Given the description of an element on the screen output the (x, y) to click on. 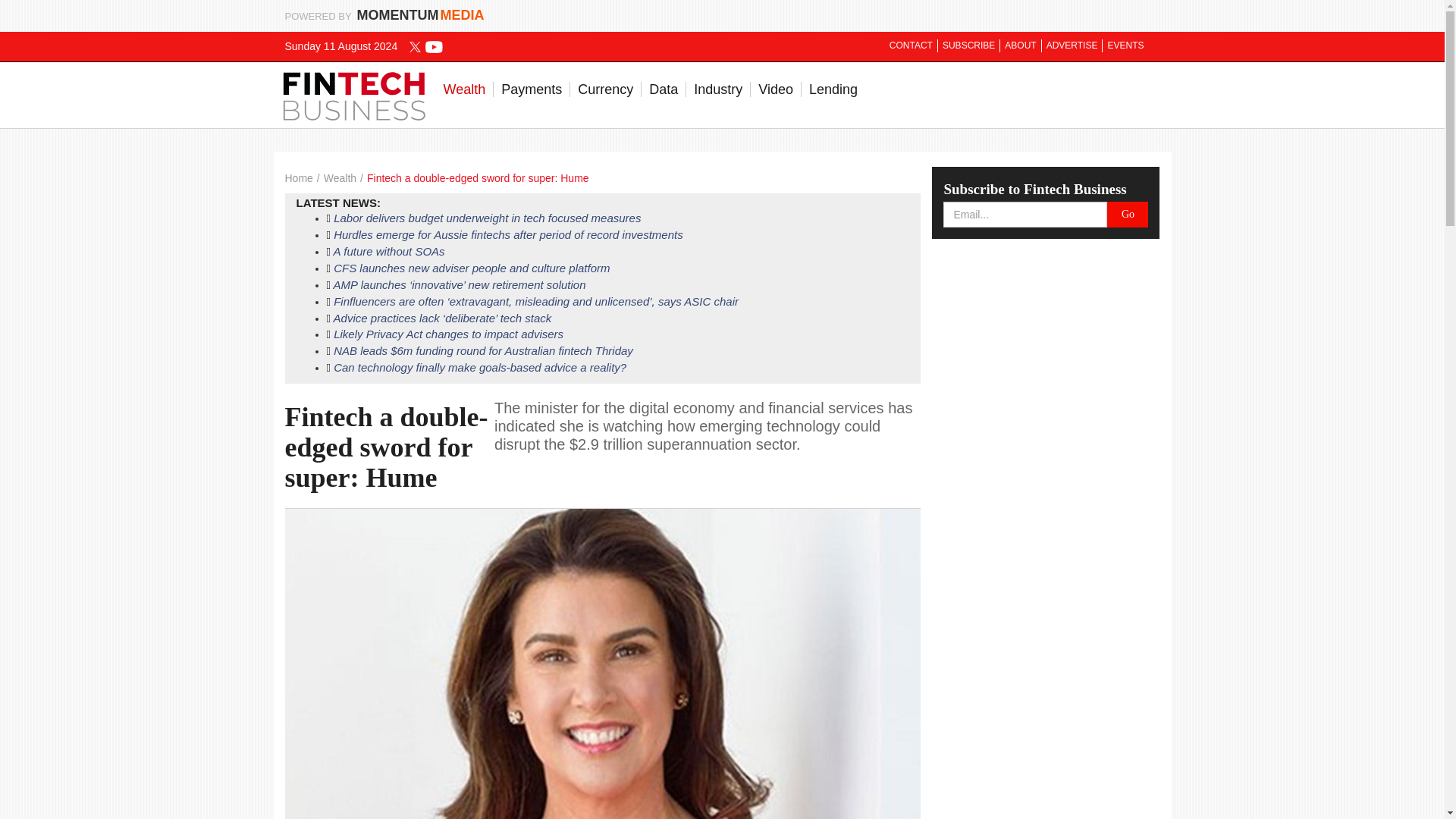
Video (776, 89)
Industry (718, 89)
Currency (606, 89)
Data (663, 89)
Go (1127, 214)
Lending (833, 89)
SUBSCRIBE (968, 45)
EVENTS (1125, 45)
POWERED BY MOMENTUM MEDIA (384, 15)
